Given the description of an element on the screen output the (x, y) to click on. 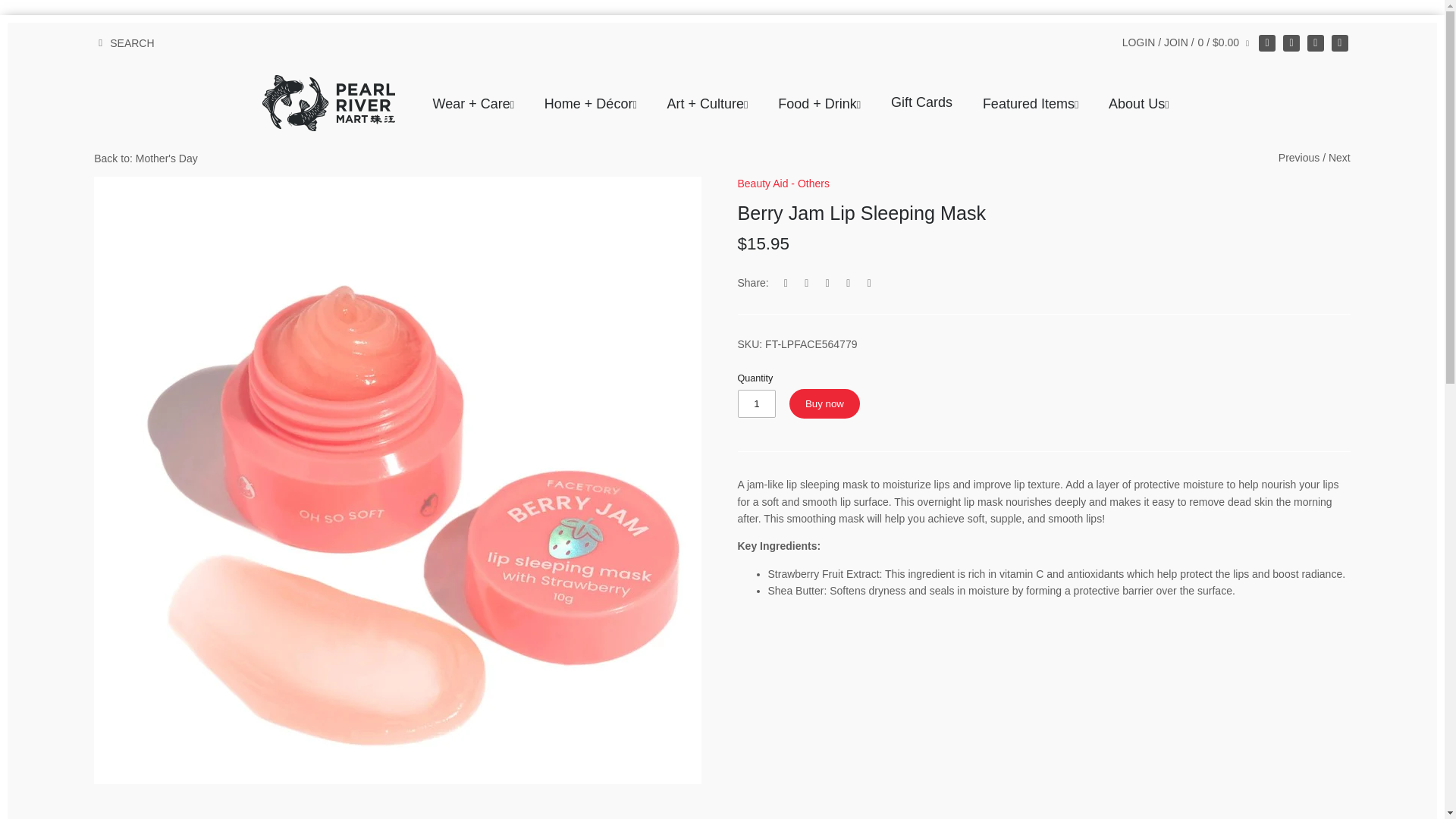
Facebook (1267, 43)
Pinterest (1340, 43)
Share using email (868, 282)
Share on Twitter (806, 282)
LOGIN (1139, 42)
Instagram (1291, 43)
Share on Facebook (785, 282)
JOIN (1175, 42)
Mother's Day (146, 157)
Twitter (1315, 43)
1 (756, 403)
Pin the main image (827, 282)
